Given the description of an element on the screen output the (x, y) to click on. 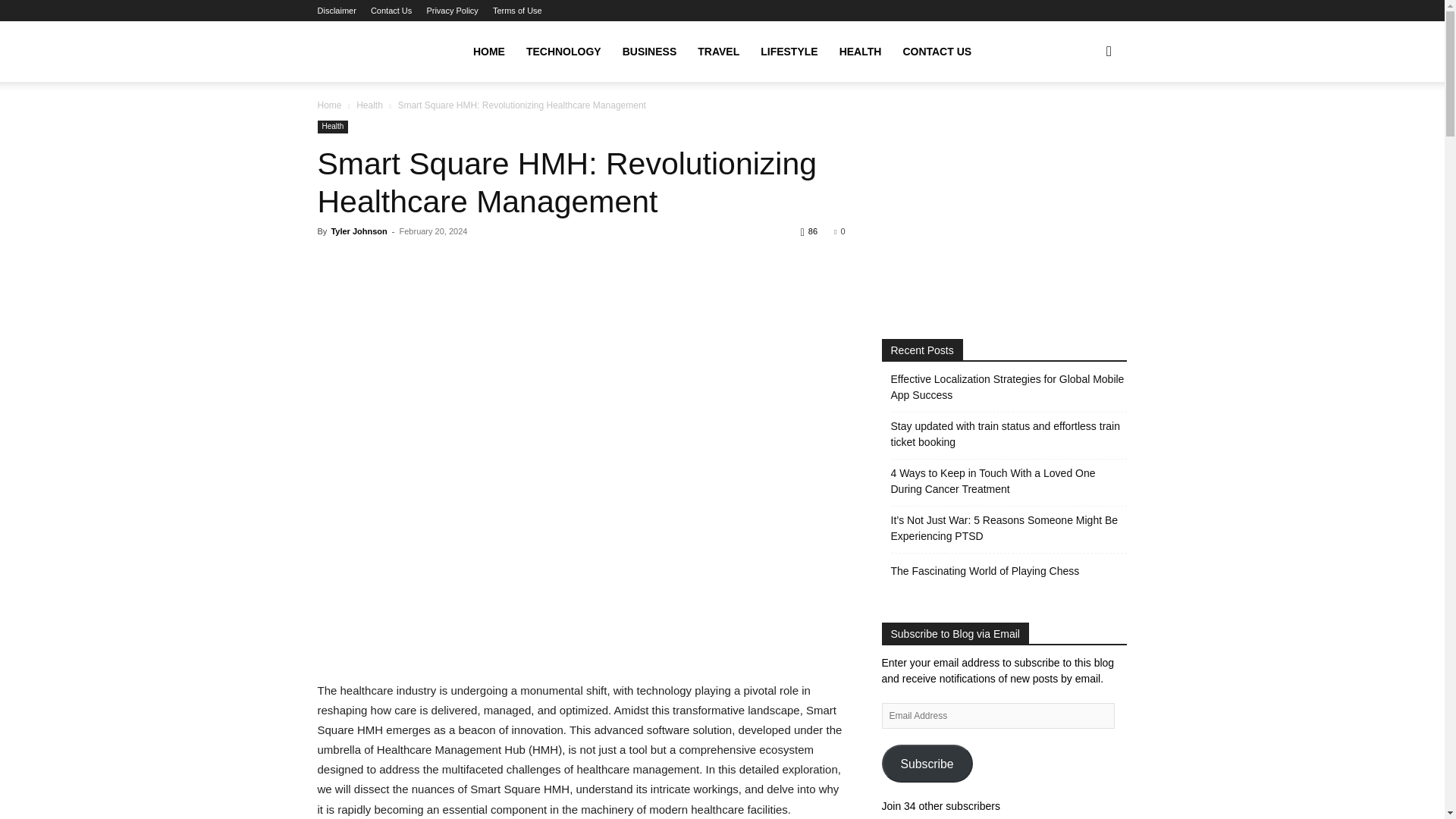
Tyler Johnson (358, 230)
Health (332, 126)
View all posts in Health (369, 104)
Contact Us (391, 10)
BUSINESS (649, 51)
0 (839, 230)
Home (328, 104)
TRAVEL (718, 51)
LIFESTYLE (788, 51)
Search (1085, 124)
